Given the description of an element on the screen output the (x, y) to click on. 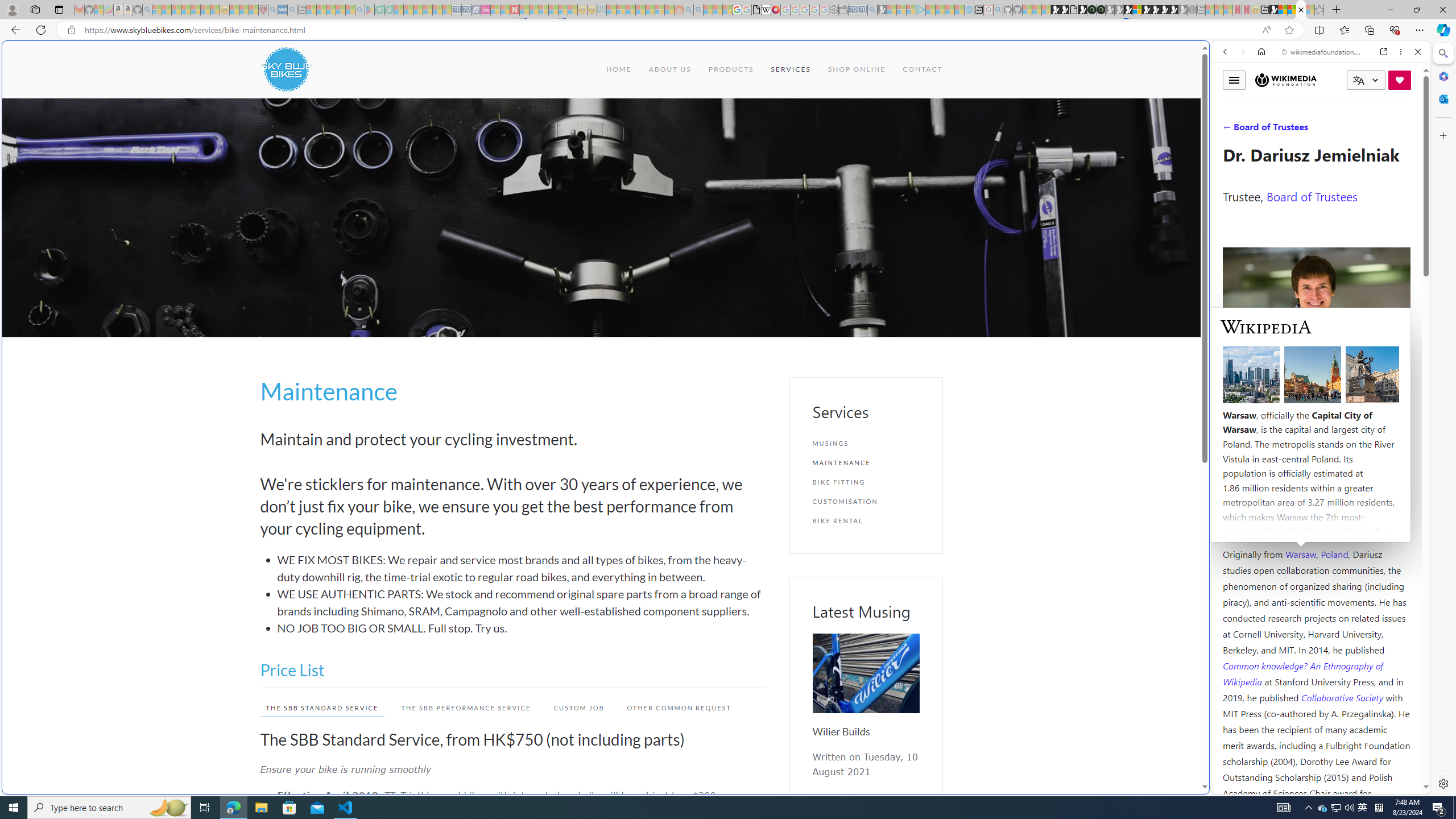
Preferences (1403, 129)
Microsoft-Report a Concern to Bing - Sleeping (98, 9)
Services - Maintenance | Sky Blue Bikes - Sky Blue Bikes (1300, 9)
Class: i icon icon-translate language-switcher__icon (1358, 80)
World - MSN (1283, 9)
HOME (619, 68)
MediaWiki (774, 9)
MAINTENANCE (865, 462)
Search Filter, WEB (1230, 129)
Warsaw (1300, 554)
